Given the description of an element on the screen output the (x, y) to click on. 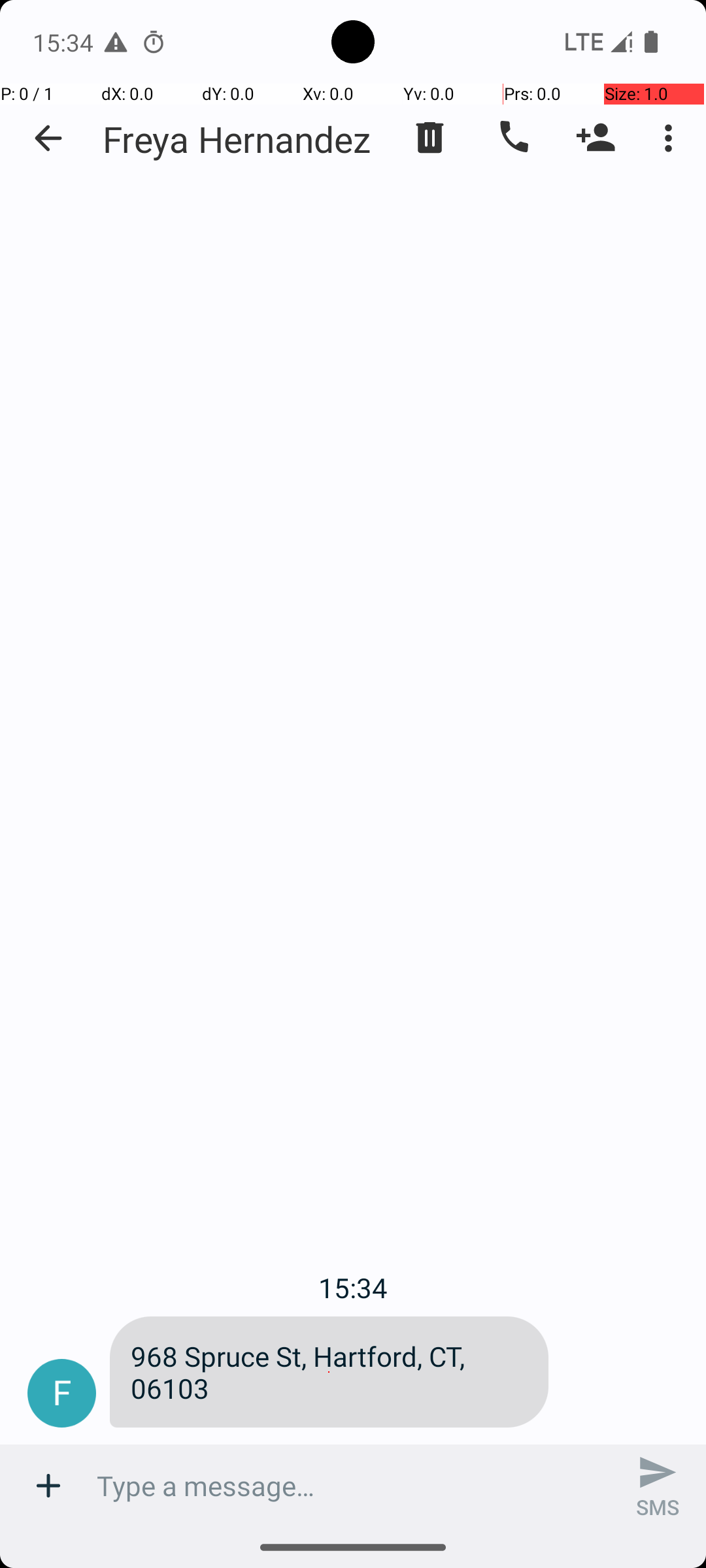
Freya Hernandez Element type: android.widget.TextView (236, 138)
968 Spruce St, Hartford, CT, 06103 Element type: android.widget.TextView (328, 1371)
